Given the description of an element on the screen output the (x, y) to click on. 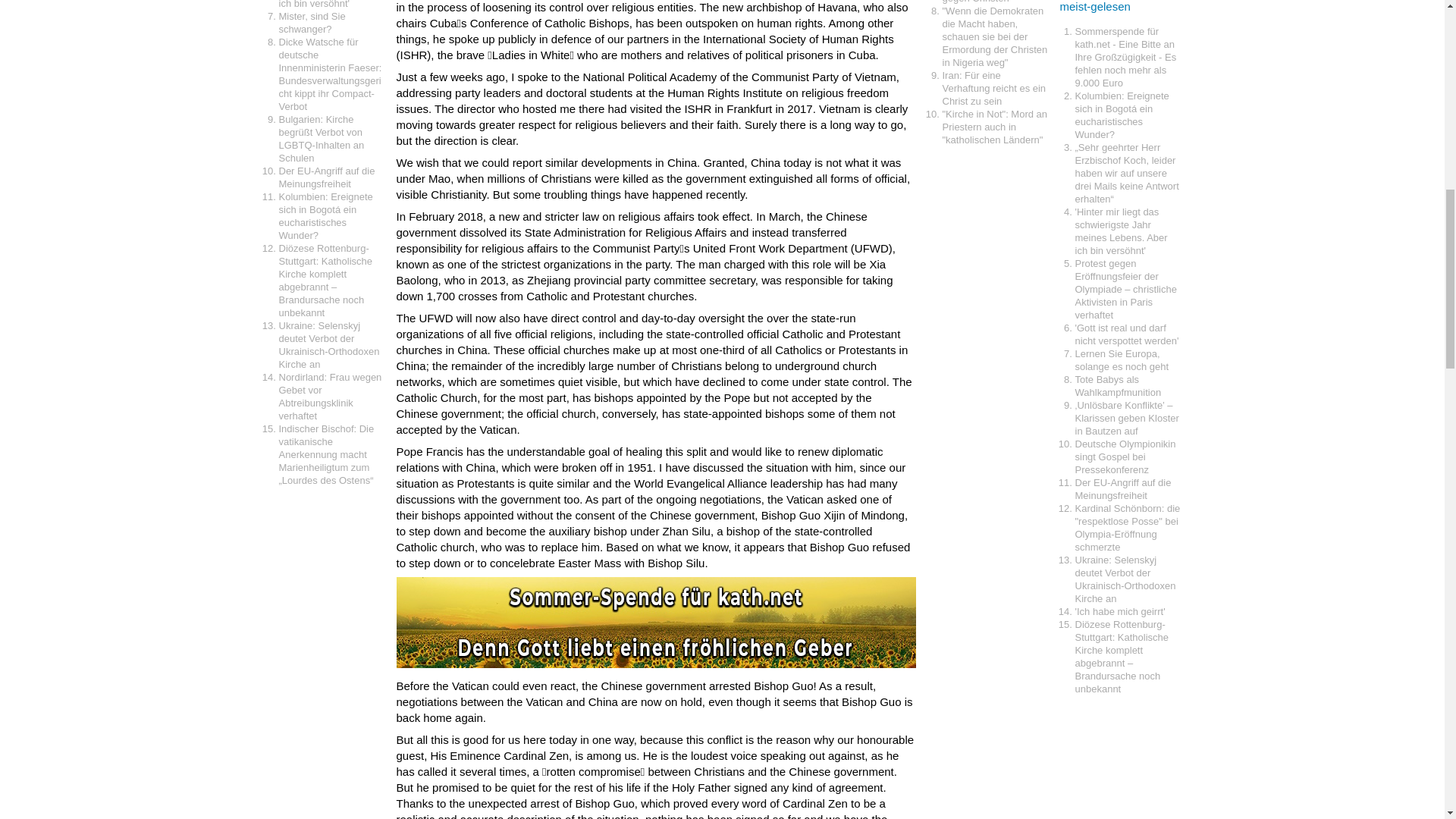
Mister, sind Sie schwanger? (312, 22)
Der EU-Angriff auf die Meinungsfreiheit (327, 177)
Nordirland: Frau wegen Gebet vor Abtreibungsklinik verhaftet (330, 396)
